Given the description of an element on the screen output the (x, y) to click on. 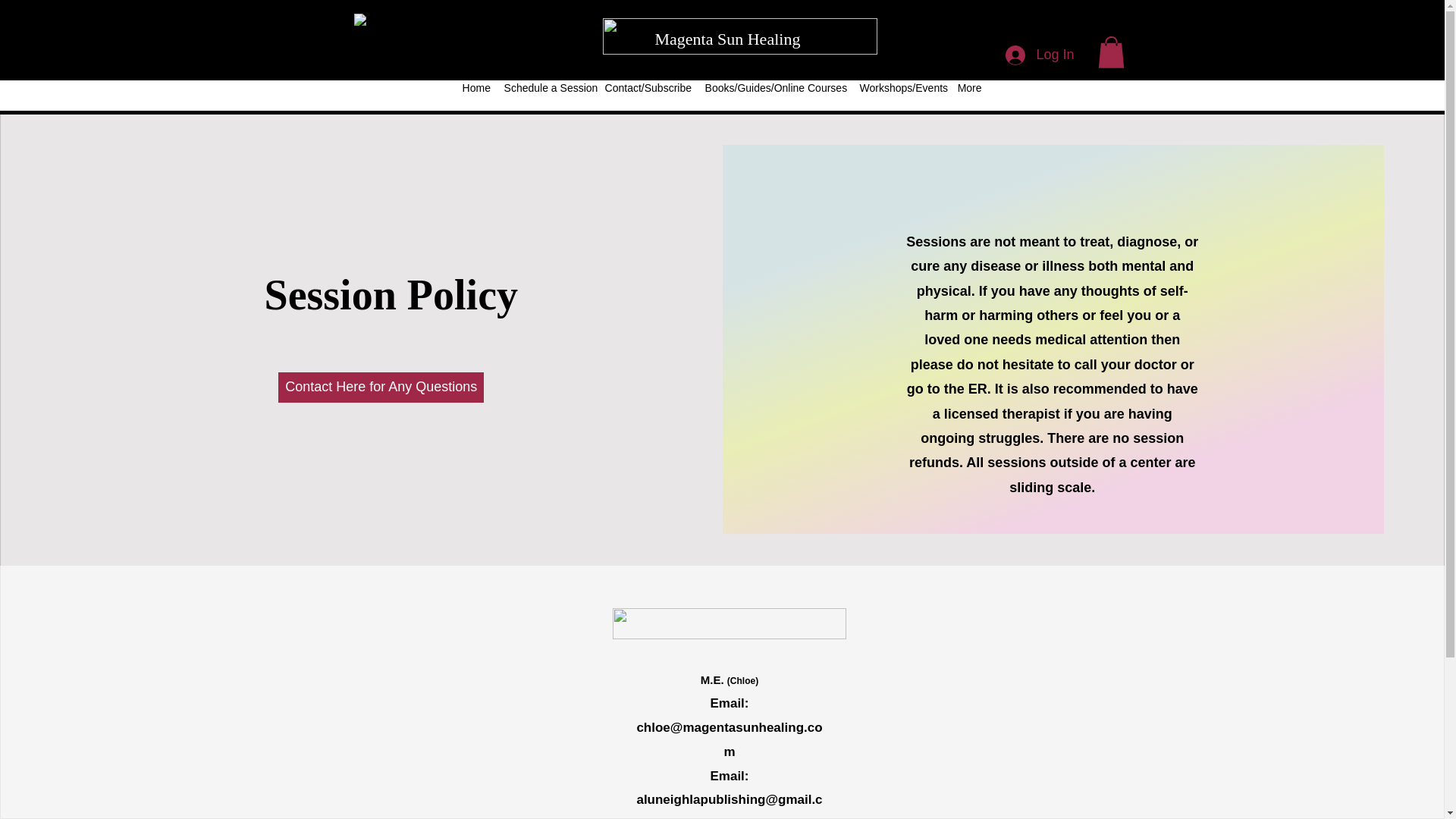
Home (475, 87)
Magenta Sun Healing (727, 38)
Log In (1039, 55)
magenta sun color .png (739, 36)
Contact Here for Any Questions (380, 387)
magenta sun.png (728, 623)
Schedule a Session (546, 87)
